Given the description of an element on the screen output the (x, y) to click on. 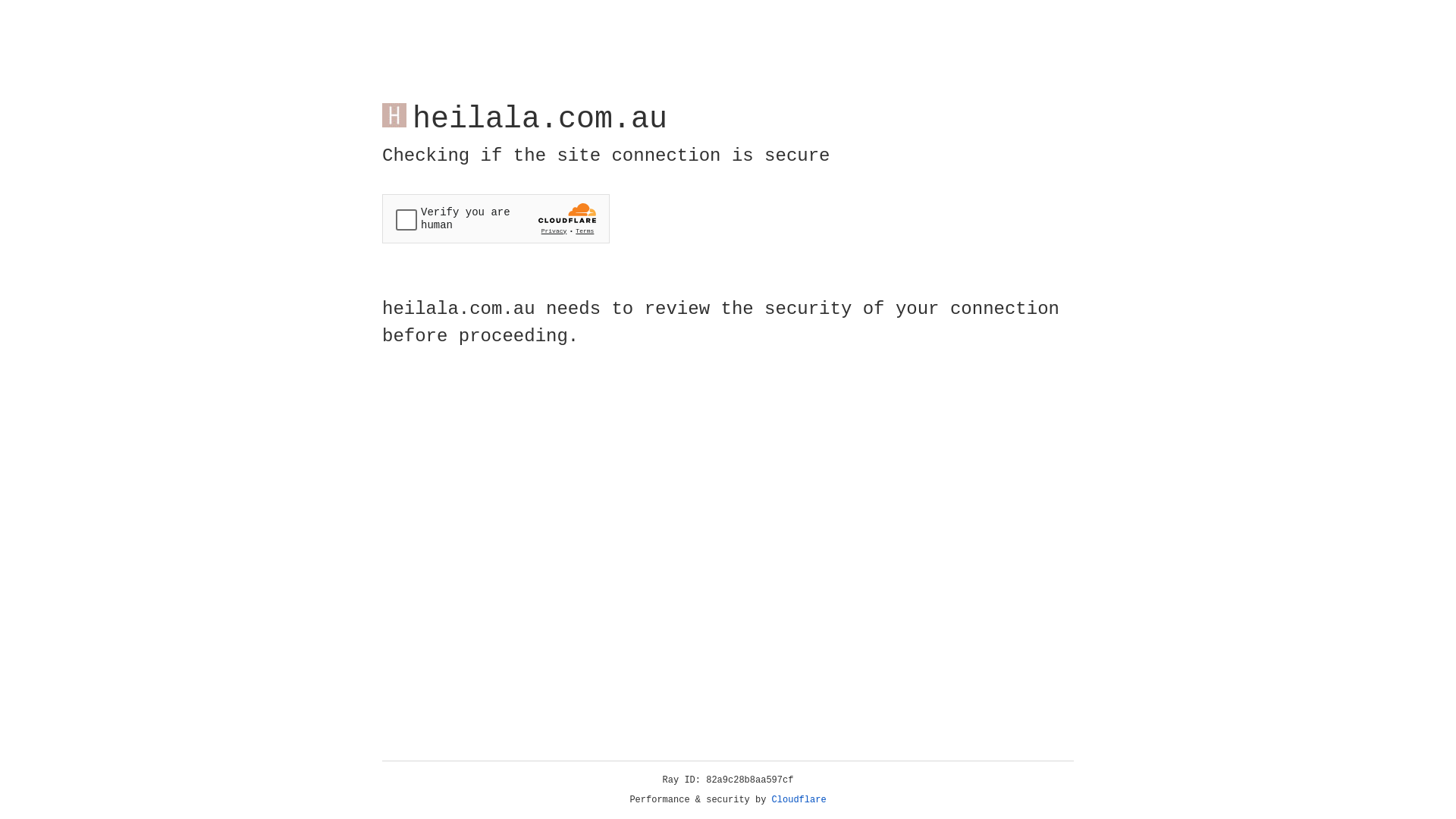
Widget containing a Cloudflare security challenge Element type: hover (495, 218)
Cloudflare Element type: text (798, 799)
